Given the description of an element on the screen output the (x, y) to click on. 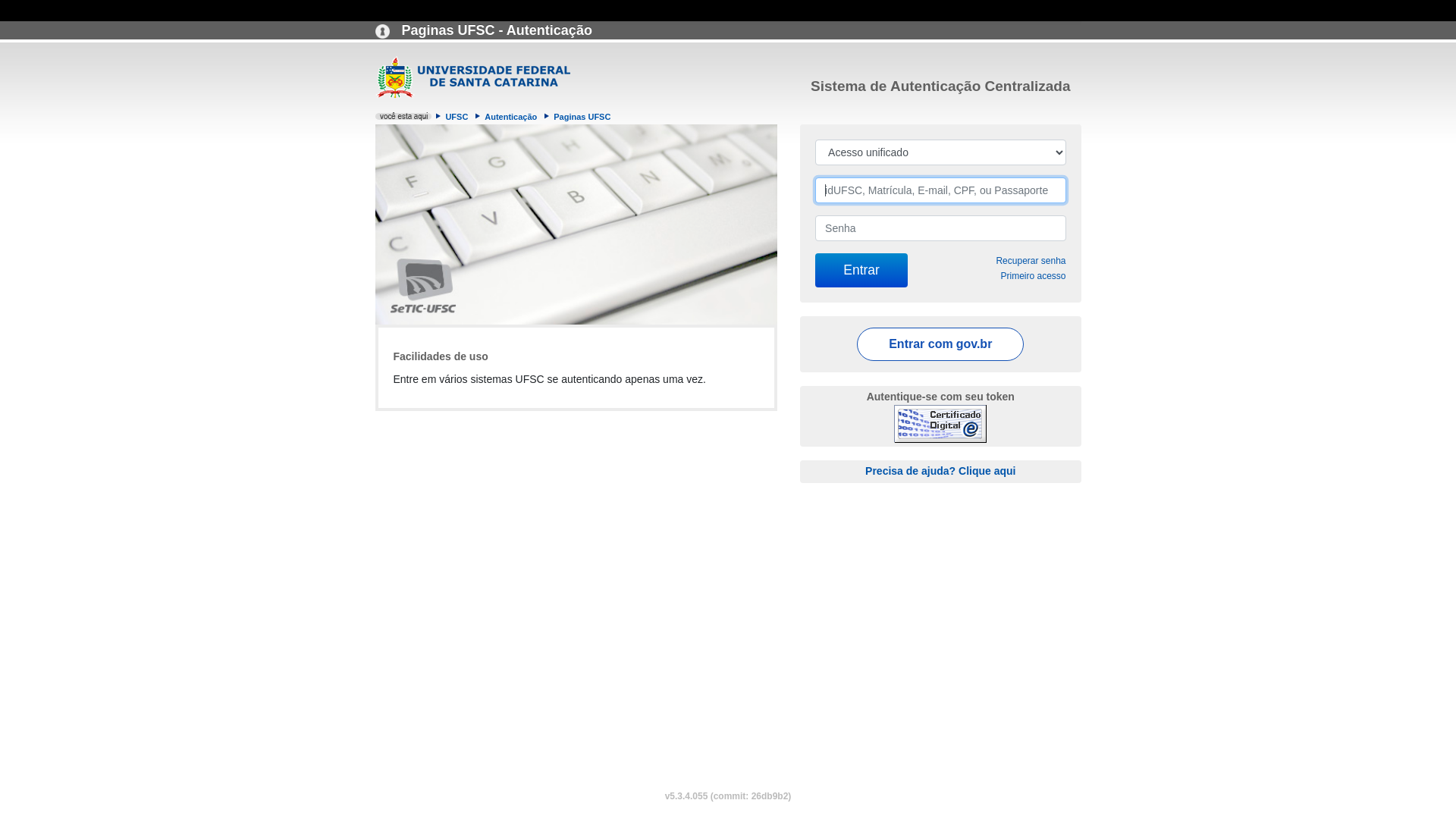
Recuperar senha Element type: text (1030, 260)
Paginas UFSC Element type: text (581, 116)
Entrar com
gov.br Element type: text (939, 343)
Precisa de ajuda? Clique aqui Element type: text (940, 470)
Entrar Element type: text (861, 270)
UFSC Element type: text (456, 116)
Primeiro acesso Element type: text (1032, 275)
